Given the description of an element on the screen output the (x, y) to click on. 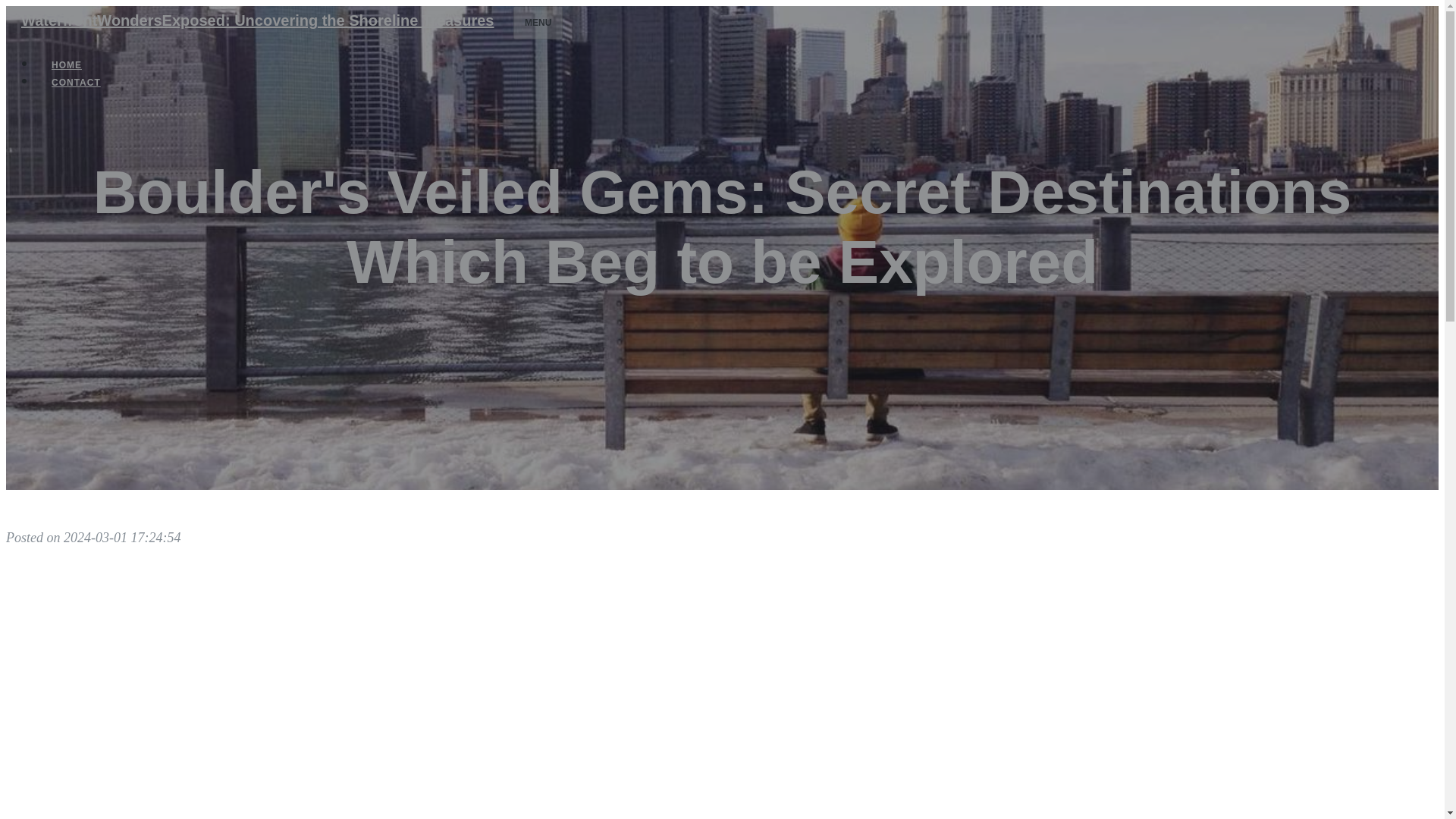
MENU (537, 22)
HOME (66, 64)
WaterfrontWondersExposed: Uncovering the Shoreline Treasures (256, 20)
CONTACT (76, 82)
